Given the description of an element on the screen output the (x, y) to click on. 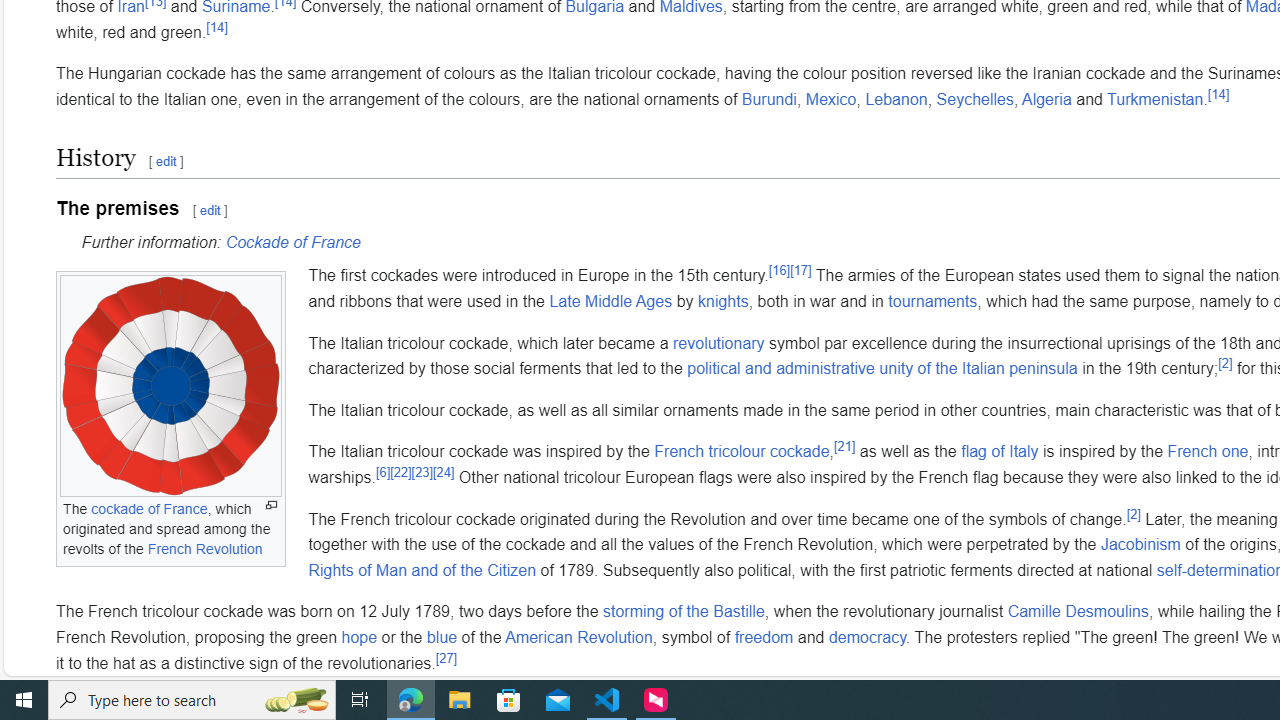
French Revolution (204, 548)
Jacobinism (1140, 544)
[6] (382, 471)
[14] (1218, 93)
Turkmenistan (1155, 99)
Cockade of France (292, 242)
political and administrative unity of the Italian peninsula (882, 369)
French one (1208, 451)
tournaments (932, 301)
[2] (1133, 514)
Burundi (769, 99)
[16] (779, 270)
[23] (421, 471)
Late Middle Ages (611, 301)
Algeria (1046, 99)
